Given the description of an element on the screen output the (x, y) to click on. 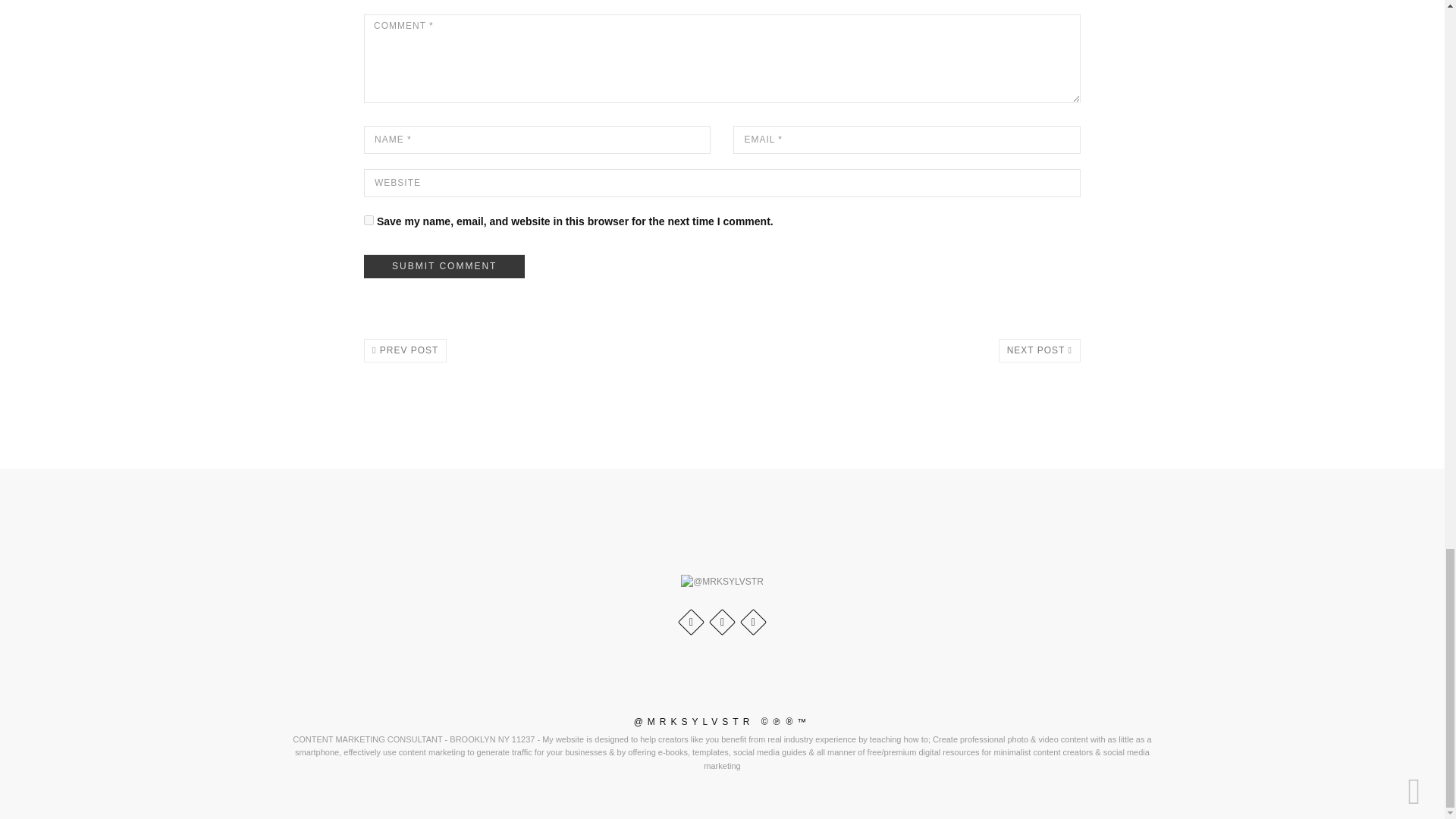
 PREV POST (405, 350)
NEXT POST  (1039, 350)
Submit Comment (444, 266)
Submit Comment (444, 266)
yes (369, 219)
